Given the description of an element on the screen output the (x, y) to click on. 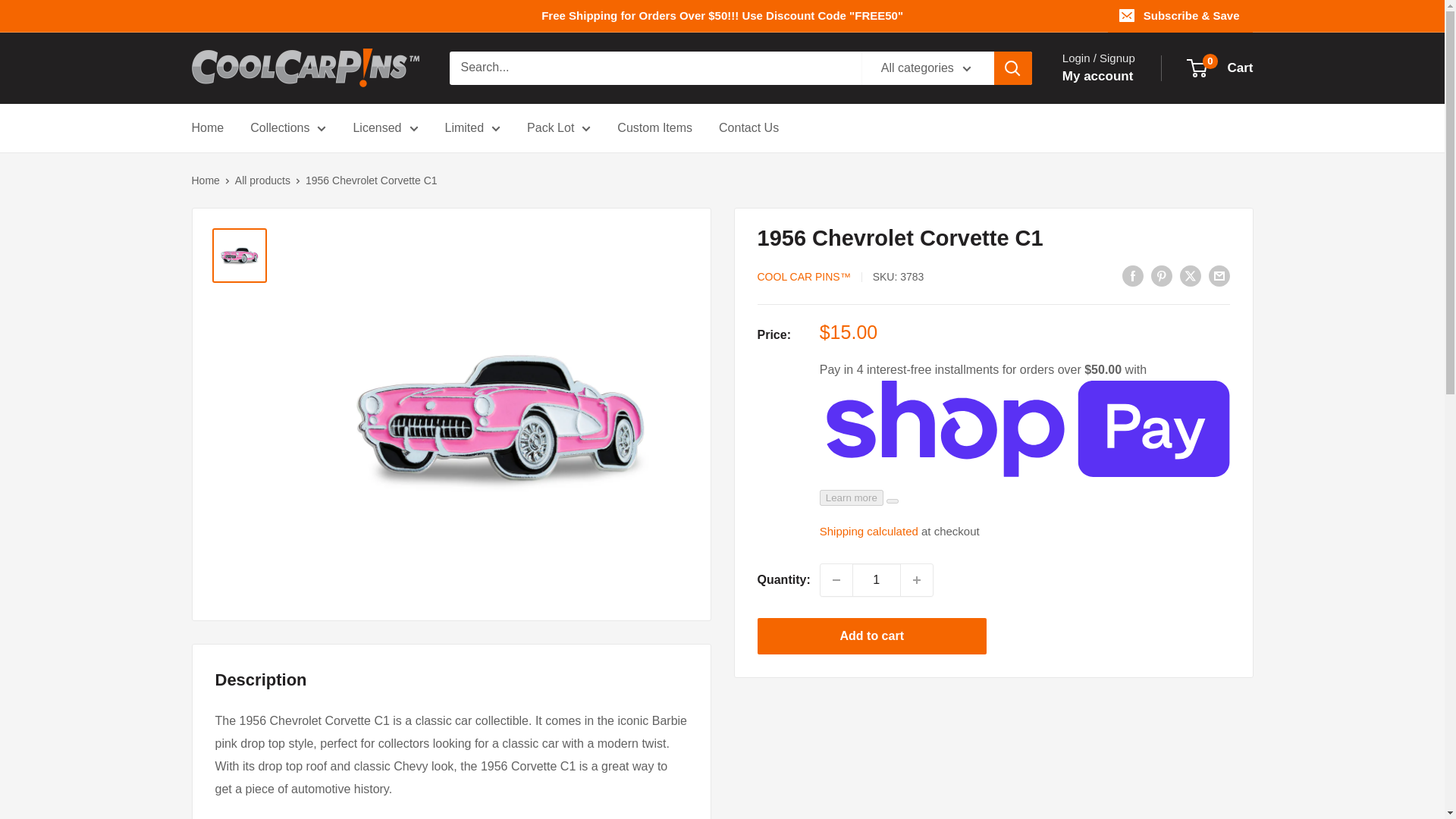
Decrease quantity by 1 (836, 580)
Increase quantity by 1 (917, 580)
1 (876, 580)
